Given the description of an element on the screen output the (x, y) to click on. 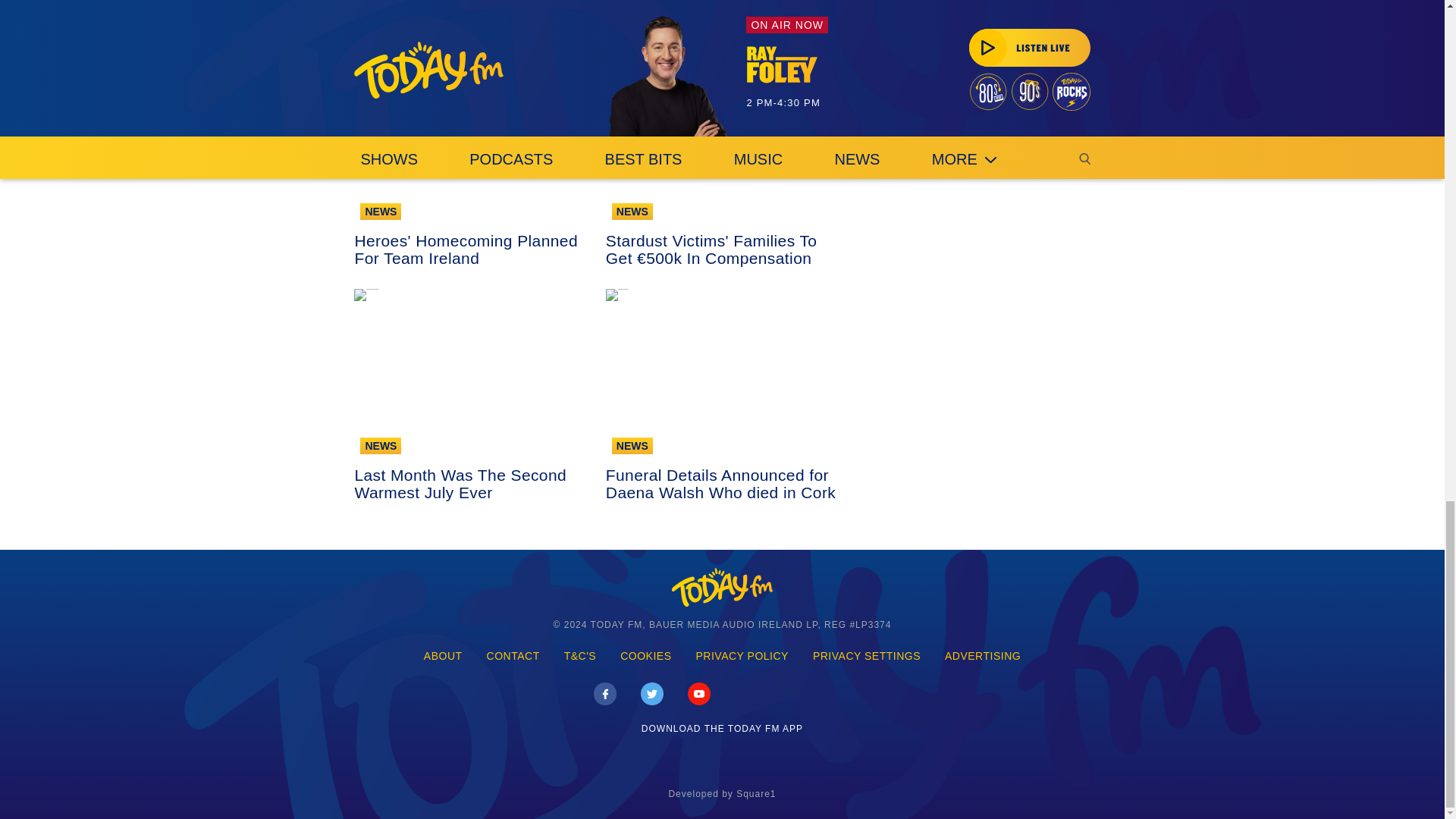
Privacy Policy (742, 656)
Advertising (982, 656)
Privacy settings (866, 656)
Cookies (645, 656)
About (443, 656)
Contact (512, 656)
